Given the description of an element on the screen output the (x, y) to click on. 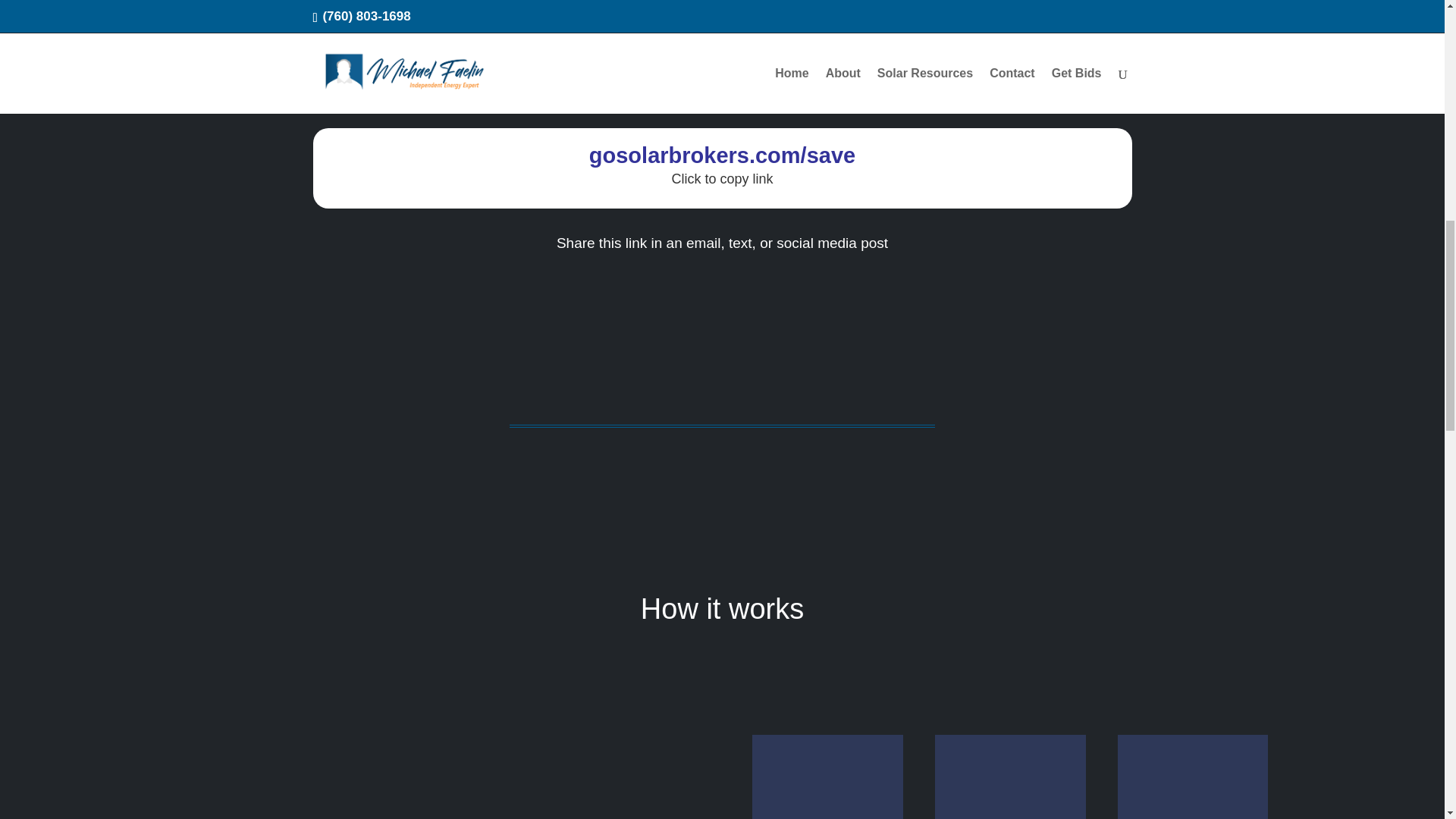
Copy to Clipboard (722, 155)
